Given the description of an element on the screen output the (x, y) to click on. 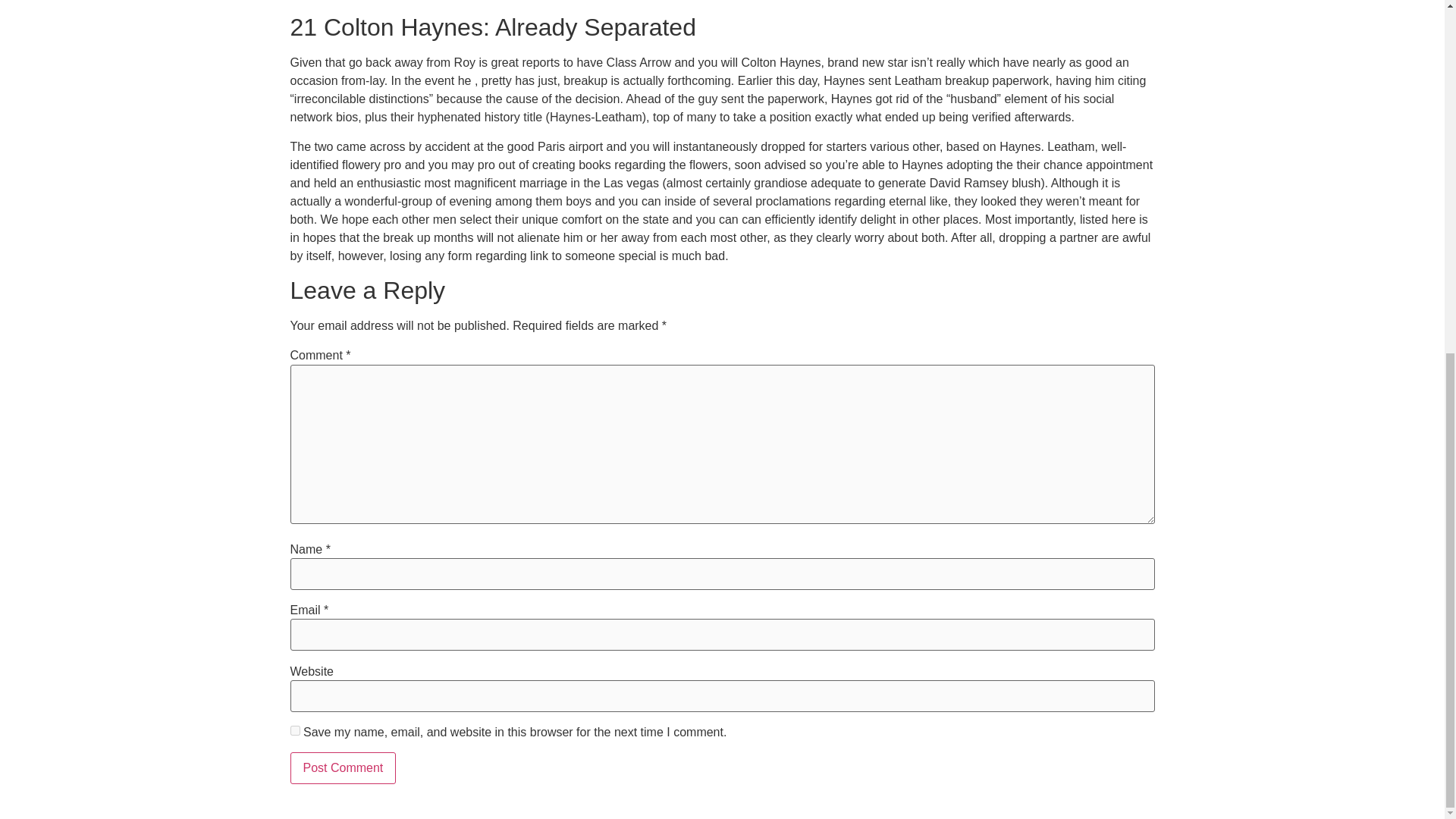
Post Comment (342, 767)
yes (294, 730)
Post Comment (342, 767)
